Given the description of an element on the screen output the (x, y) to click on. 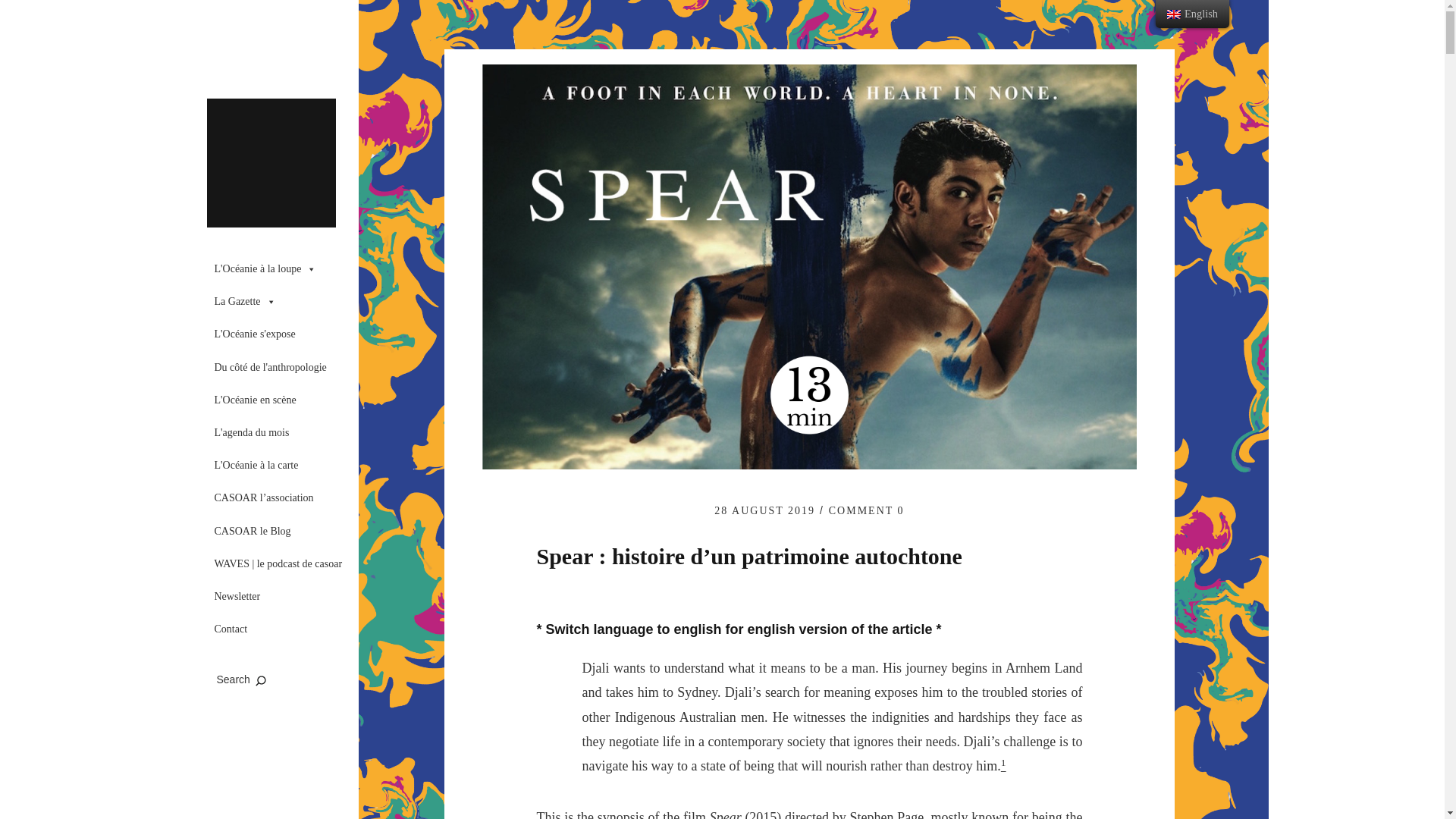
Newsletter (282, 596)
L'agenda du mois (282, 432)
Contact (282, 629)
CASOAR le Blog (282, 530)
COMMENT 0 (866, 510)
La Gazette (282, 301)
28 AUGUST 2019 (764, 510)
English (1173, 13)
1 (1003, 765)
